Given the description of an element on the screen output the (x, y) to click on. 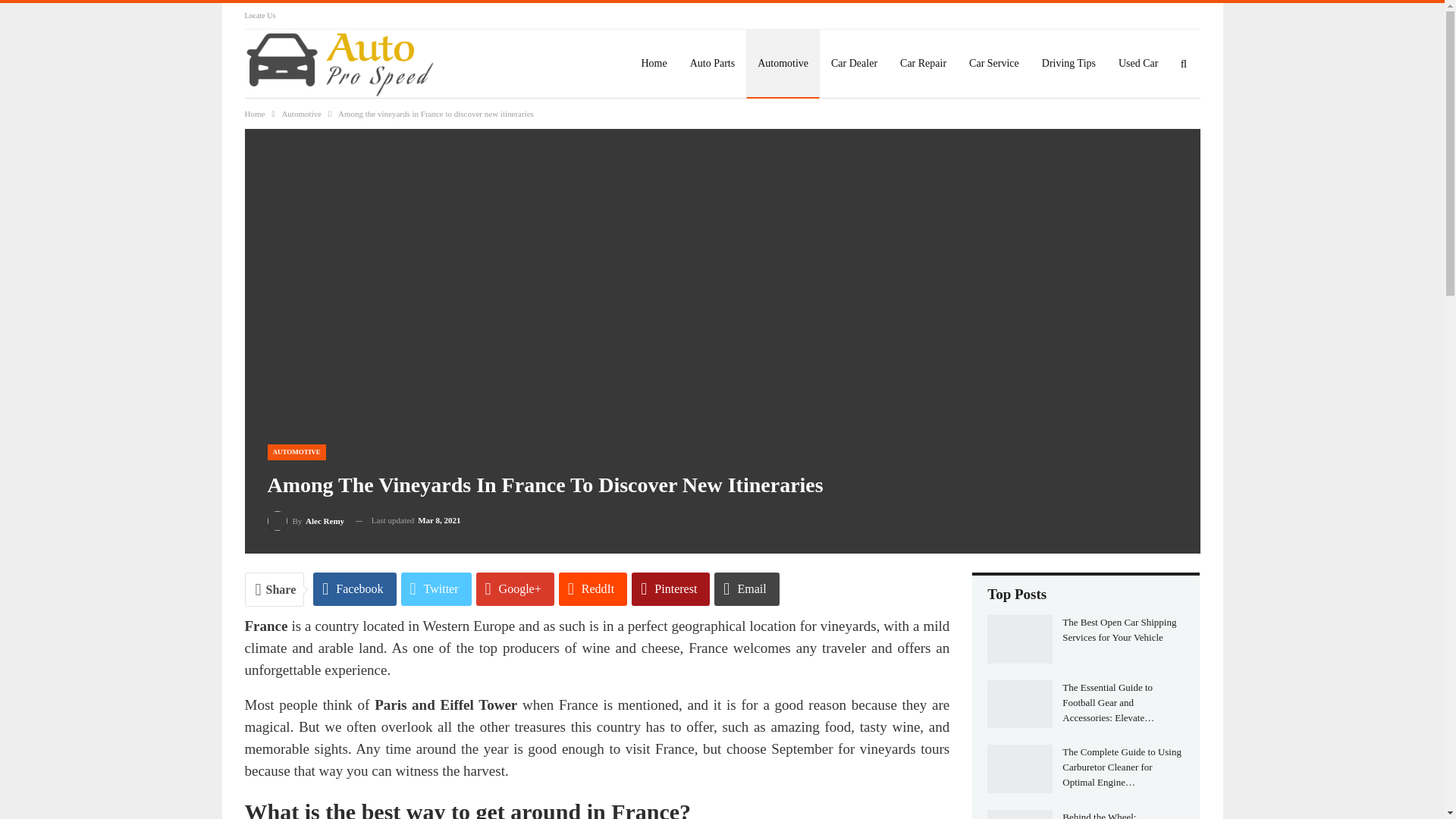
By Alec Remy (304, 520)
Car Service (994, 63)
Automotive (782, 63)
Used Car (1138, 63)
Twitter (436, 589)
Automotive (301, 113)
Home (254, 113)
Car Dealer (853, 63)
Email (746, 589)
Facebook (354, 589)
Pinterest (670, 589)
Locate Us (259, 15)
Browse Author Articles (304, 520)
Auto Parts (712, 63)
